Given the description of an element on the screen output the (x, y) to click on. 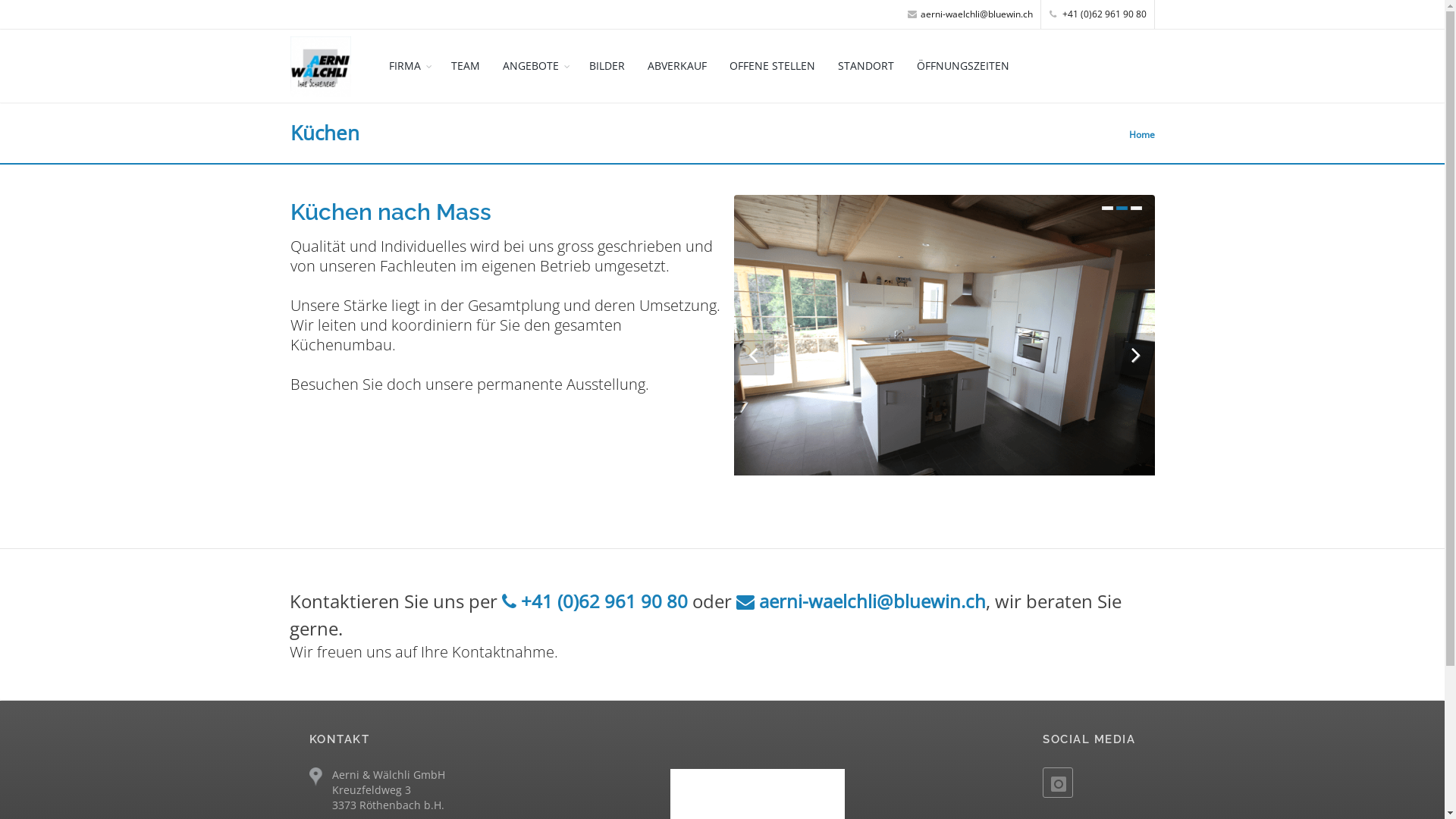
FIRMA Element type: text (408, 65)
OFFENE STELLEN Element type: text (771, 65)
STANDORT Element type: text (865, 65)
BILDER Element type: text (606, 65)
aerni-waelchli@bluewin.ch Element type: text (969, 14)
 aerni-waelchli@bluewin.ch Element type: text (860, 600)
ANGEBOTE Element type: text (534, 65)
TEAM Element type: text (465, 65)
3 Element type: text (1135, 208)
Home Element type: text (1141, 133)
ABVERKAUF Element type: text (676, 65)
1 Element type: text (1106, 208)
2 Element type: text (1121, 208)
 +41 (0)62 961 90 80 Element type: text (1097, 14)
